Given the description of an element on the screen output the (x, y) to click on. 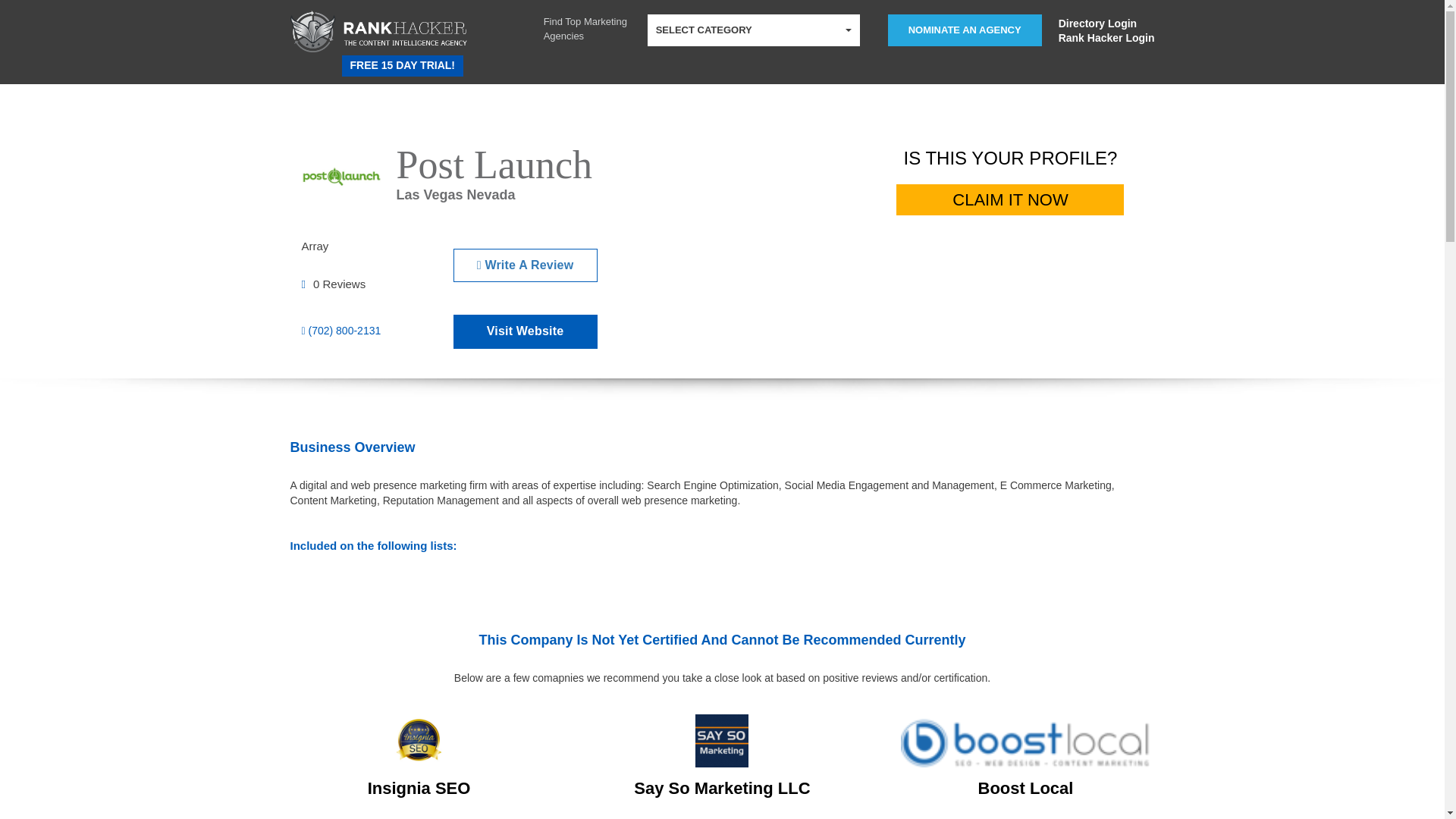
Rank Hacker Login (1106, 37)
SELECT CATEGORY (753, 29)
Write A Review (524, 265)
Rank Hacker Directory (342, 61)
NOMINATE AN AGENCY (965, 29)
FREE 15 DAY TRIAL! (401, 65)
CLAIM IT NOW (1010, 199)
Visit Website (524, 331)
Directory Login (1106, 23)
